Given the description of an element on the screen output the (x, y) to click on. 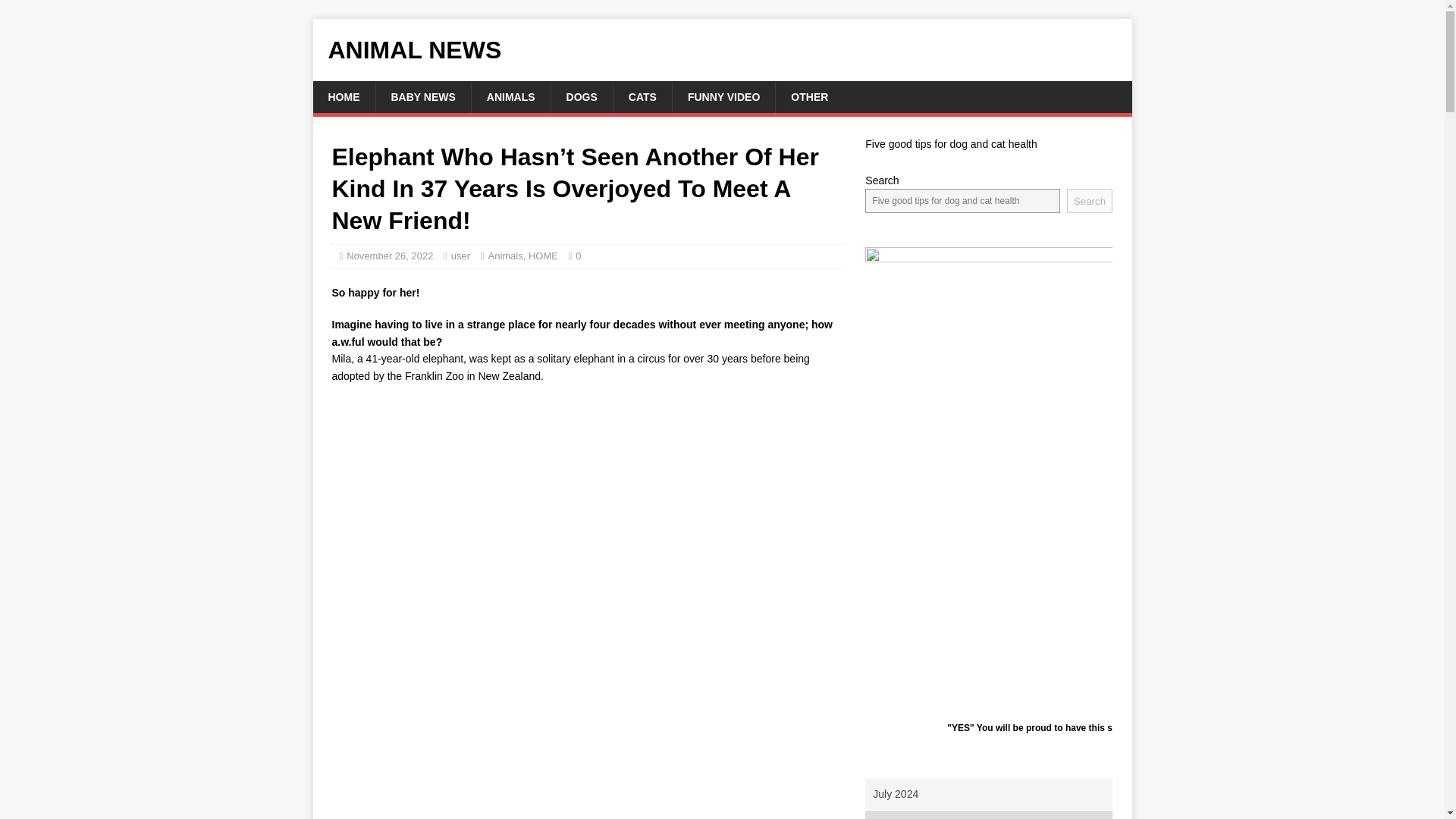
Animals (504, 255)
DOGS (581, 97)
ANIMAL NEWS (721, 49)
HOME (343, 97)
ANIMALS (510, 97)
CATS (641, 97)
user (460, 255)
November 26, 2022 (389, 255)
OTHER (808, 97)
BABY NEWS (422, 97)
HOME (542, 255)
FUNNY VIDEO (722, 97)
ANIMAL NEWS (721, 49)
